Given the description of an element on the screen output the (x, y) to click on. 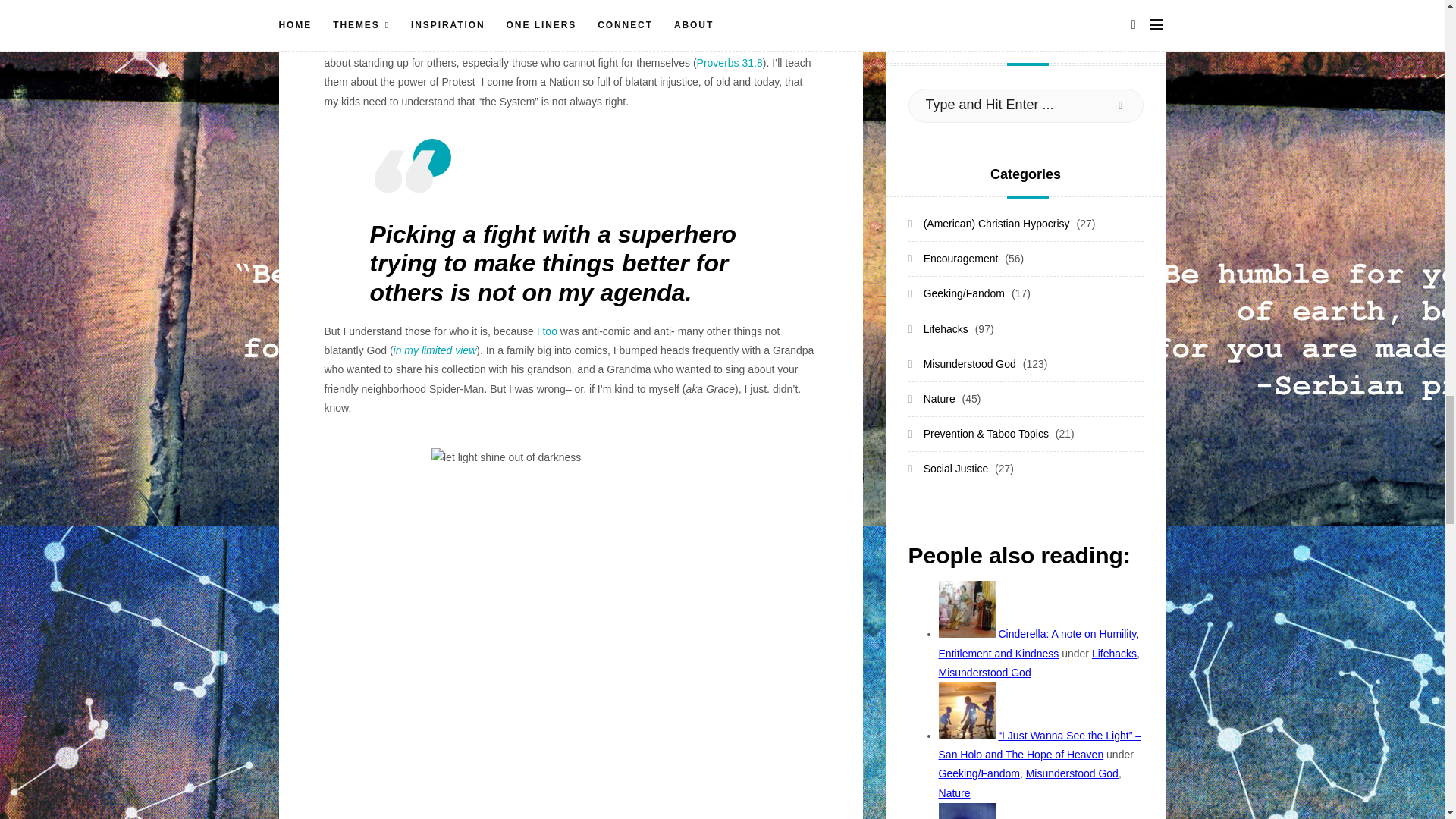
Proverbs 31:8 (729, 62)
I too (547, 331)
in my limited view (435, 349)
